Given the description of an element on the screen output the (x, y) to click on. 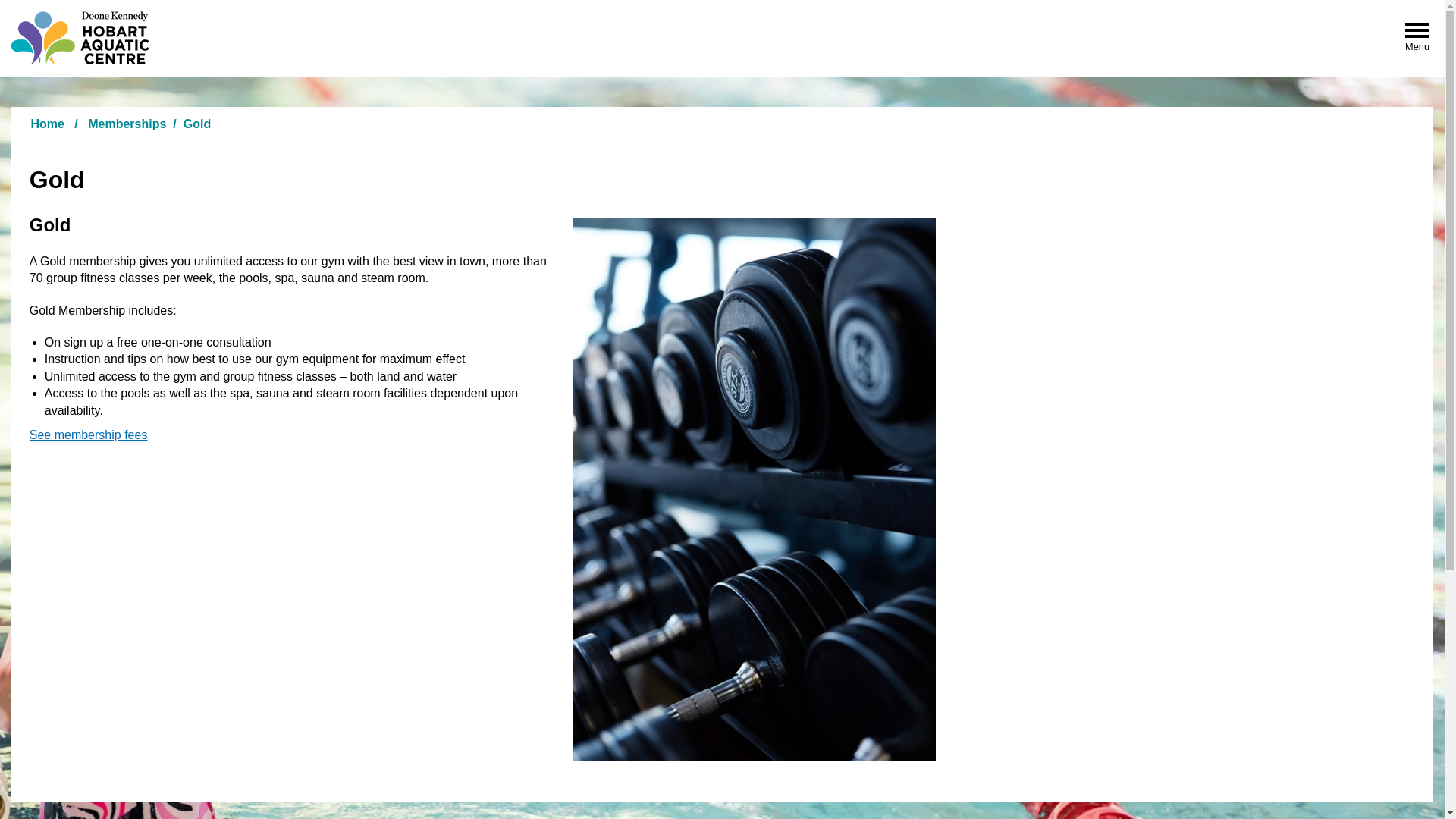
Memberships Element type: text (126, 123)
Home Element type: text (46, 123)
Home - Doone Kennedy Hobart Aquatic Centre - Logo Element type: text (80, 38)
Open
Menu
below search button Element type: text (1417, 32)
See membership fees Element type: text (88, 434)
